Given the description of an element on the screen output the (x, y) to click on. 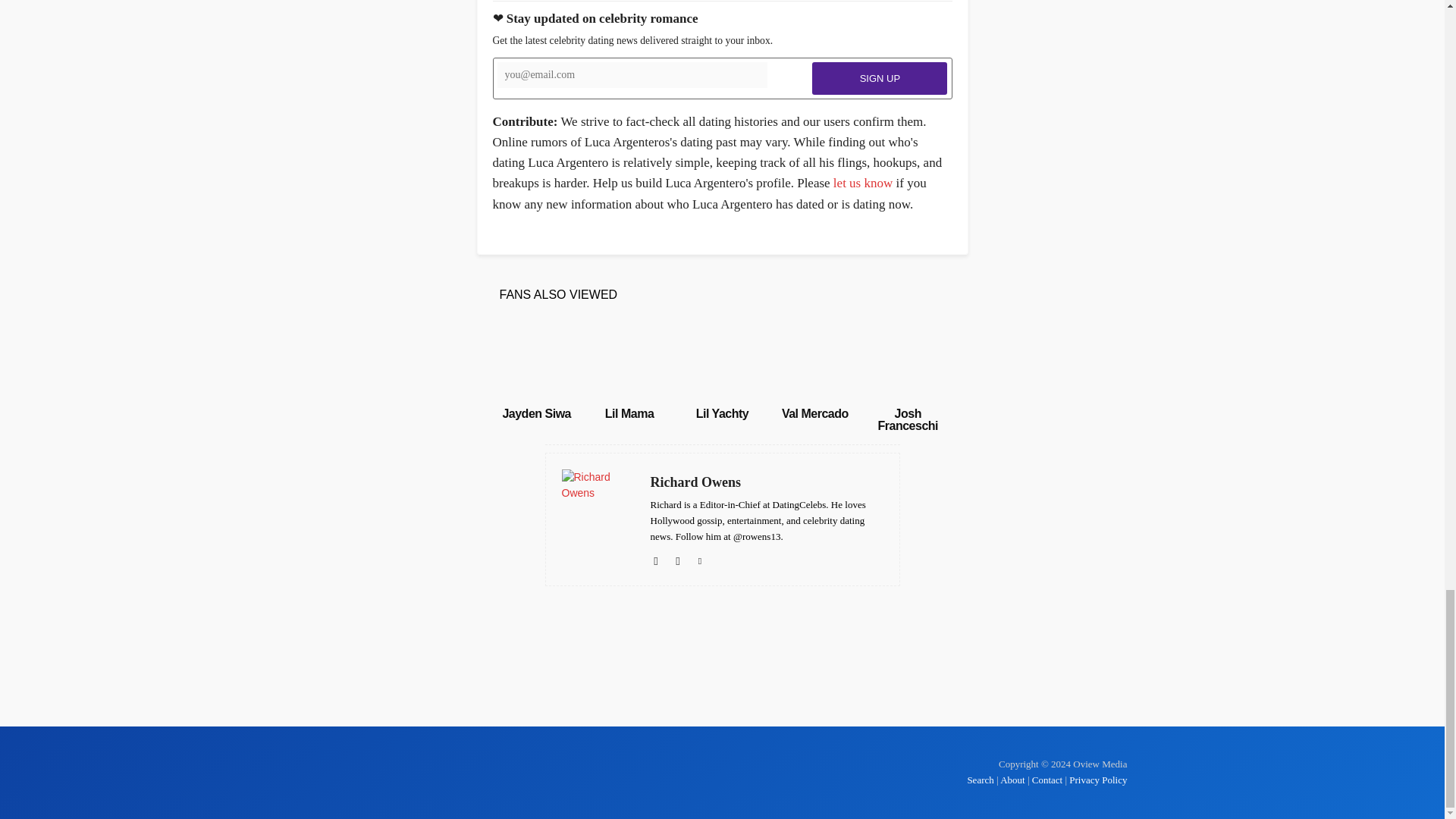
Lil Mama (629, 413)
Jayden Siwa (536, 360)
Lil Yachty (721, 413)
Lil Mama (629, 360)
SIGN UP (879, 78)
Lil Mama (629, 413)
Search (980, 779)
let us know (862, 183)
Richard Owens (766, 482)
Contact (1047, 779)
